Given the description of an element on the screen output the (x, y) to click on. 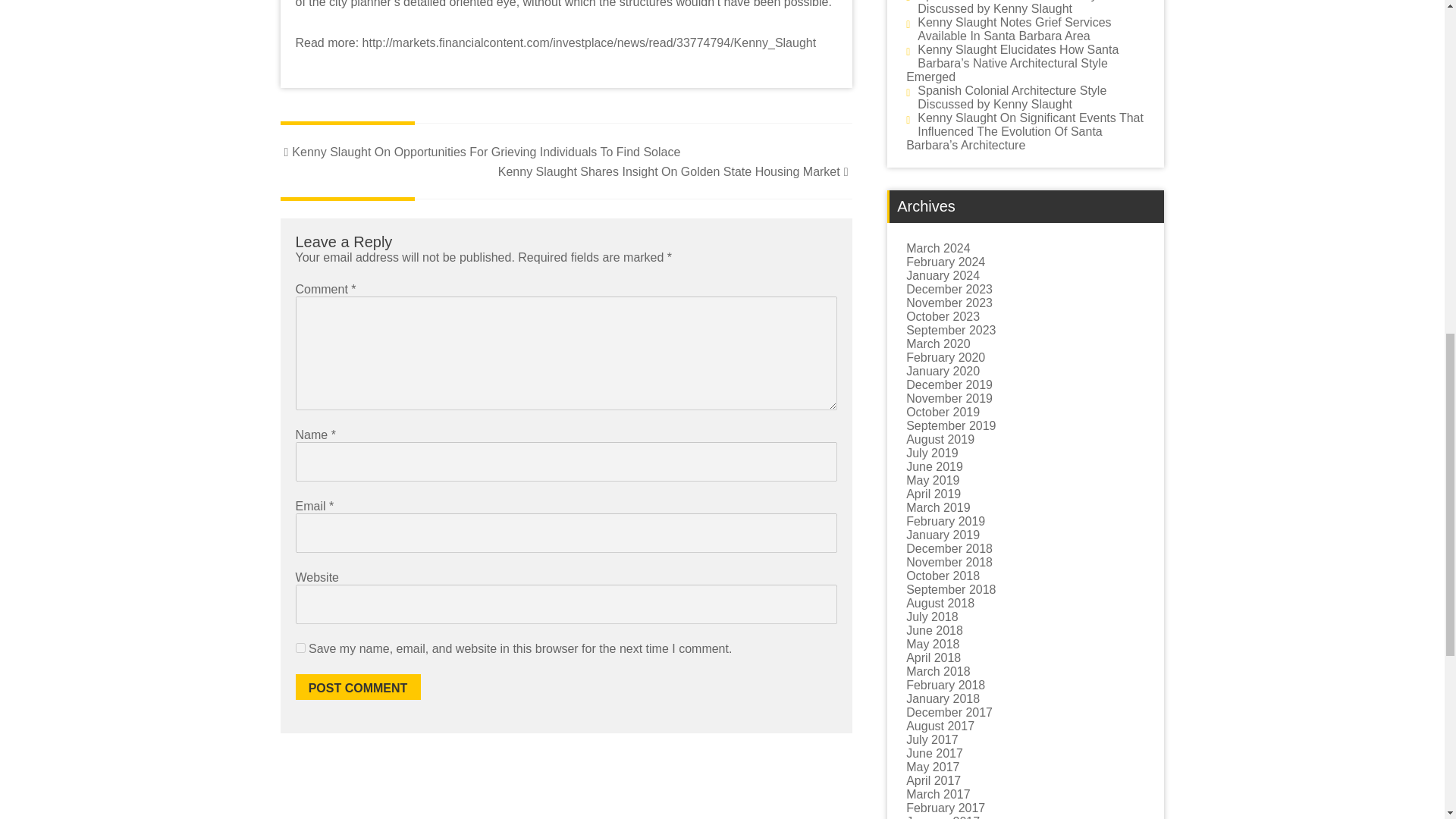
Kenny Slaught Shares Insight On Golden State Housing Market (674, 171)
March 2020 (938, 343)
September 2023 (950, 329)
yes (300, 647)
December 2019 (948, 384)
March 2024 (938, 247)
January 2024 (942, 275)
Post Comment (357, 687)
October 2023 (942, 316)
